Given the description of an element on the screen output the (x, y) to click on. 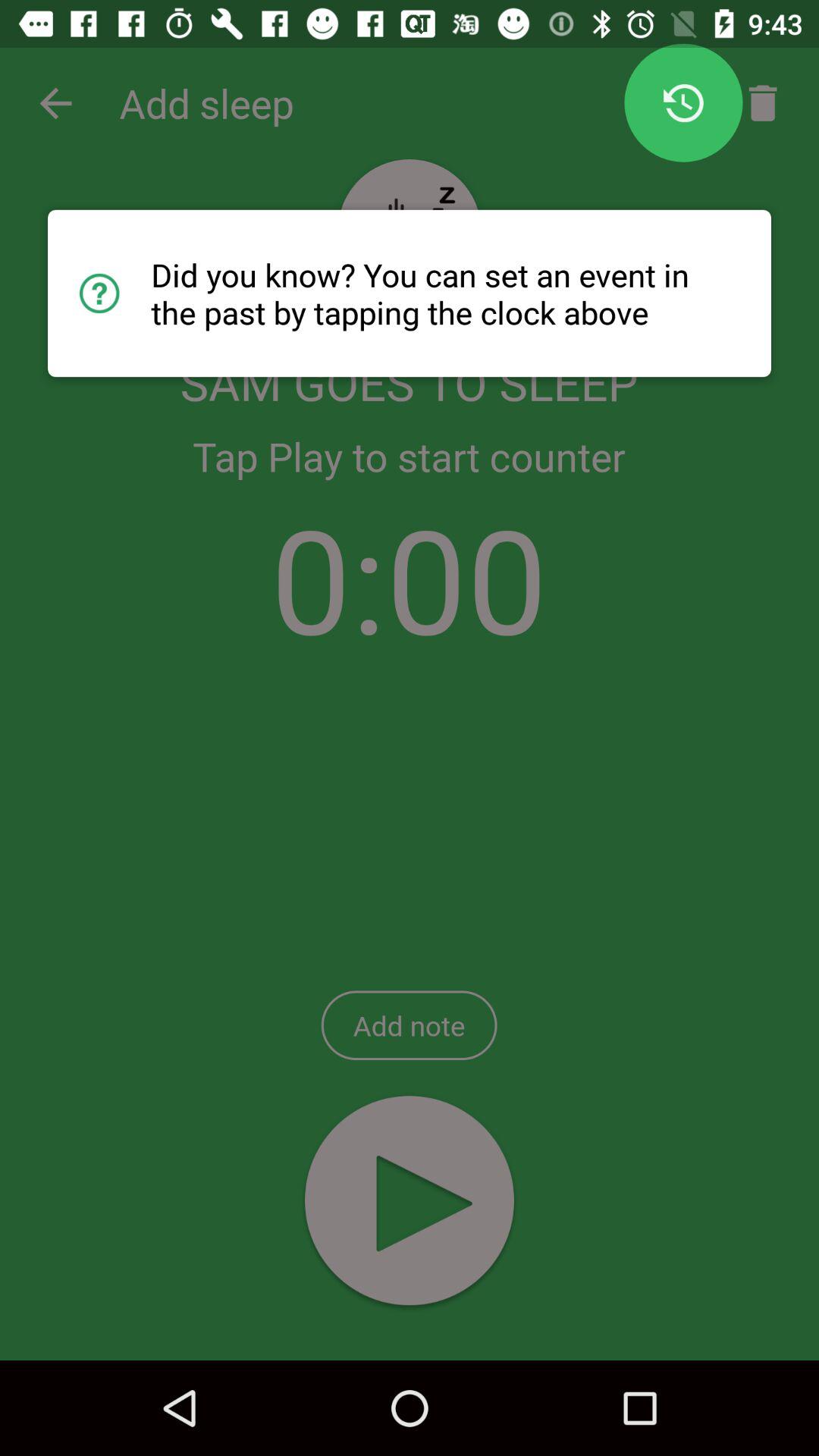
click the icon below the tap play to (408, 577)
